Given the description of an element on the screen output the (x, y) to click on. 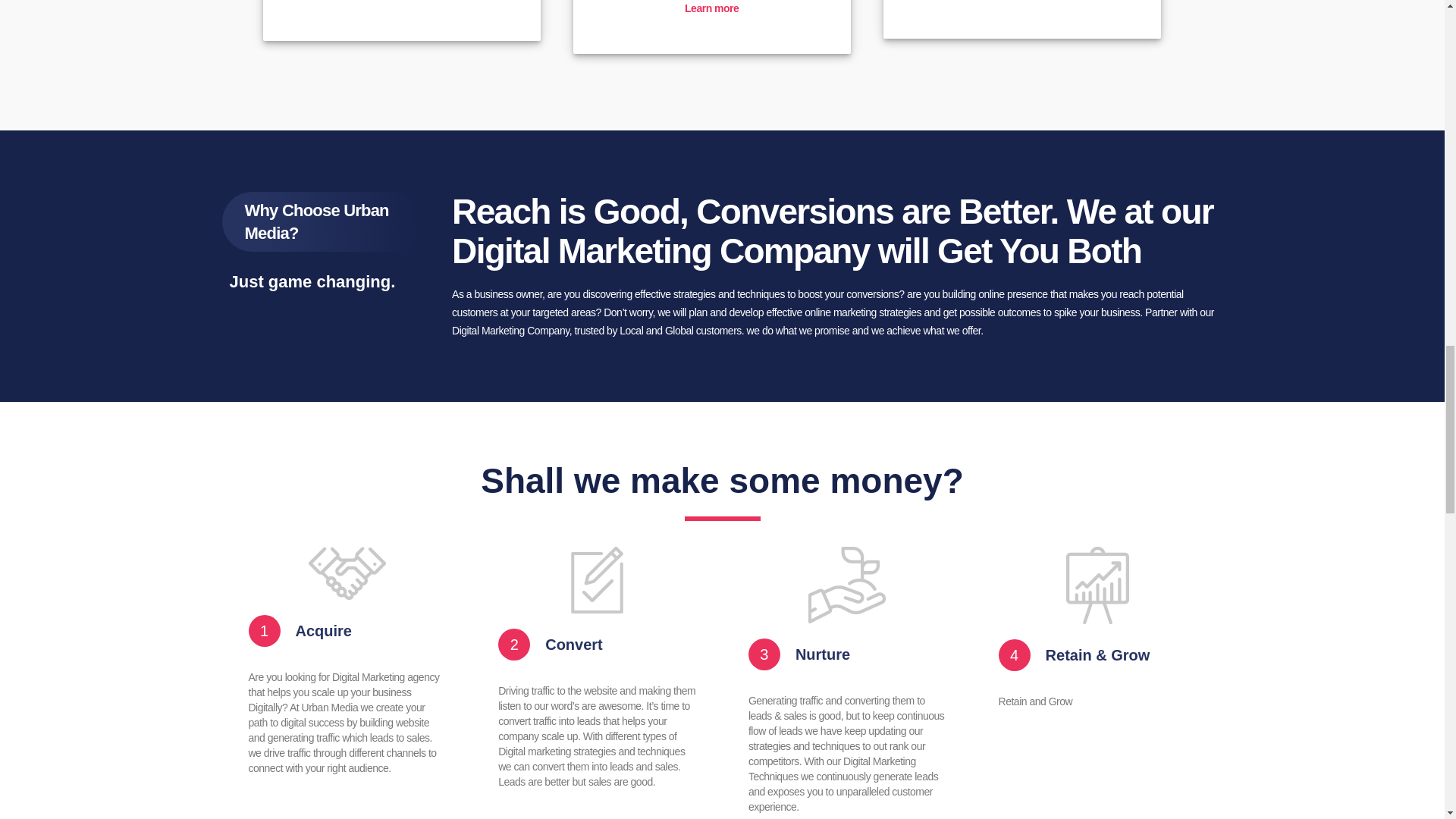
Learn more (711, 8)
Why Choose Urban Media? (320, 221)
Learn more (401, 0)
Just game changing. (312, 281)
